Given the description of an element on the screen output the (x, y) to click on. 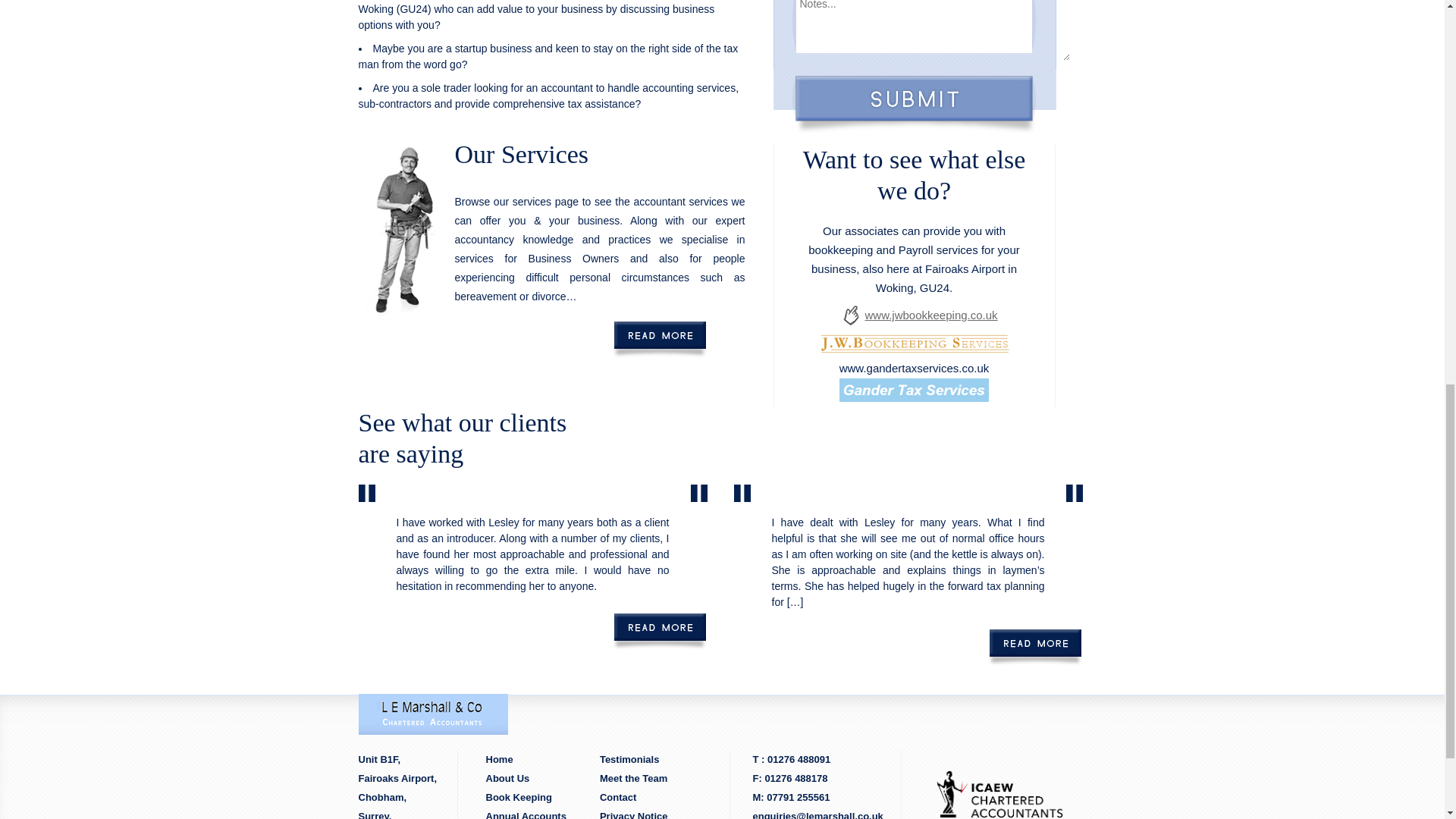
Meet the Team (634, 778)
Contact (618, 797)
Privacy Notice (634, 814)
Send (913, 105)
Send (913, 105)
Annual Accounts (525, 814)
Book Keeping (518, 797)
Testimonials (629, 758)
About Us (507, 778)
www.gandertaxservices.co.uk (915, 367)
Home (498, 758)
www.jwbookkeeping.co.uk (938, 314)
